Given the description of an element on the screen output the (x, y) to click on. 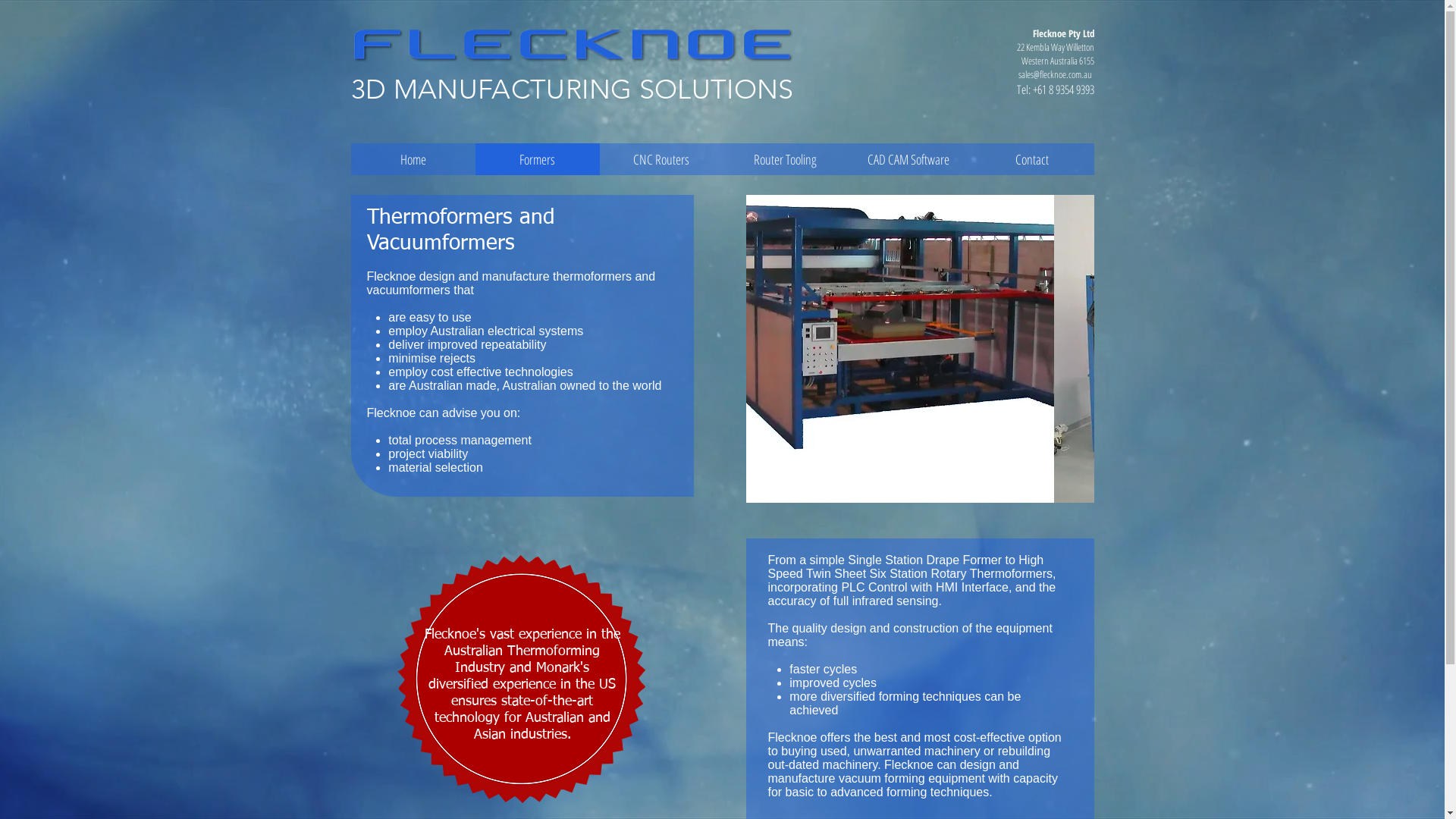
Formers Element type: text (536, 159)
CAD CAM Software Element type: text (907, 159)
Router Tooling Element type: text (785, 159)
CNC Routers Element type: text (660, 159)
sales@flecknoe.com.au Element type: text (1054, 74)
Home Element type: text (412, 159)
Contact Element type: text (1032, 159)
